Given the description of an element on the screen output the (x, y) to click on. 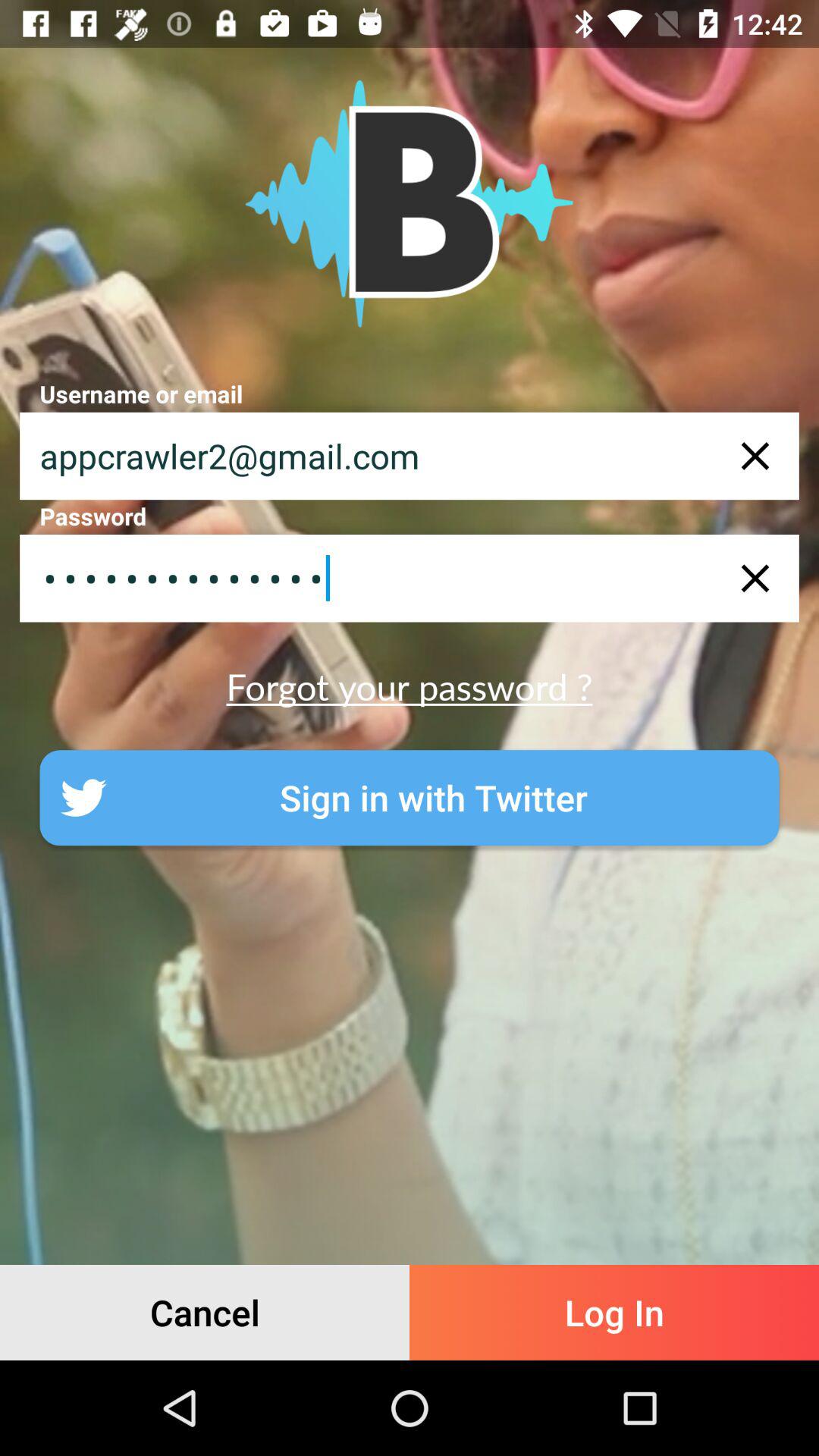
flip to the appcrawler3116 (409, 578)
